Given the description of an element on the screen output the (x, y) to click on. 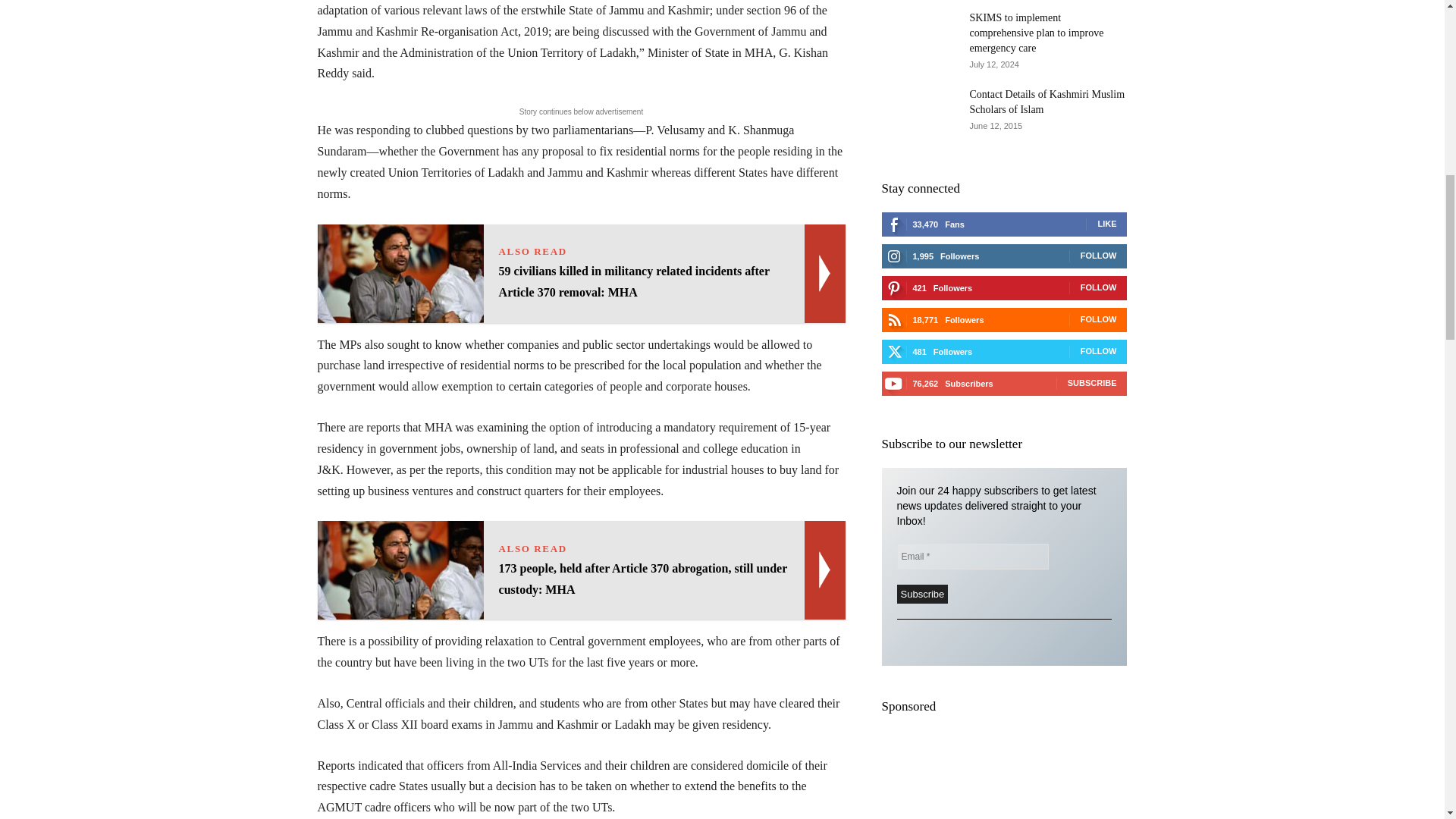
Subscribe (921, 593)
